Given the description of an element on the screen output the (x, y) to click on. 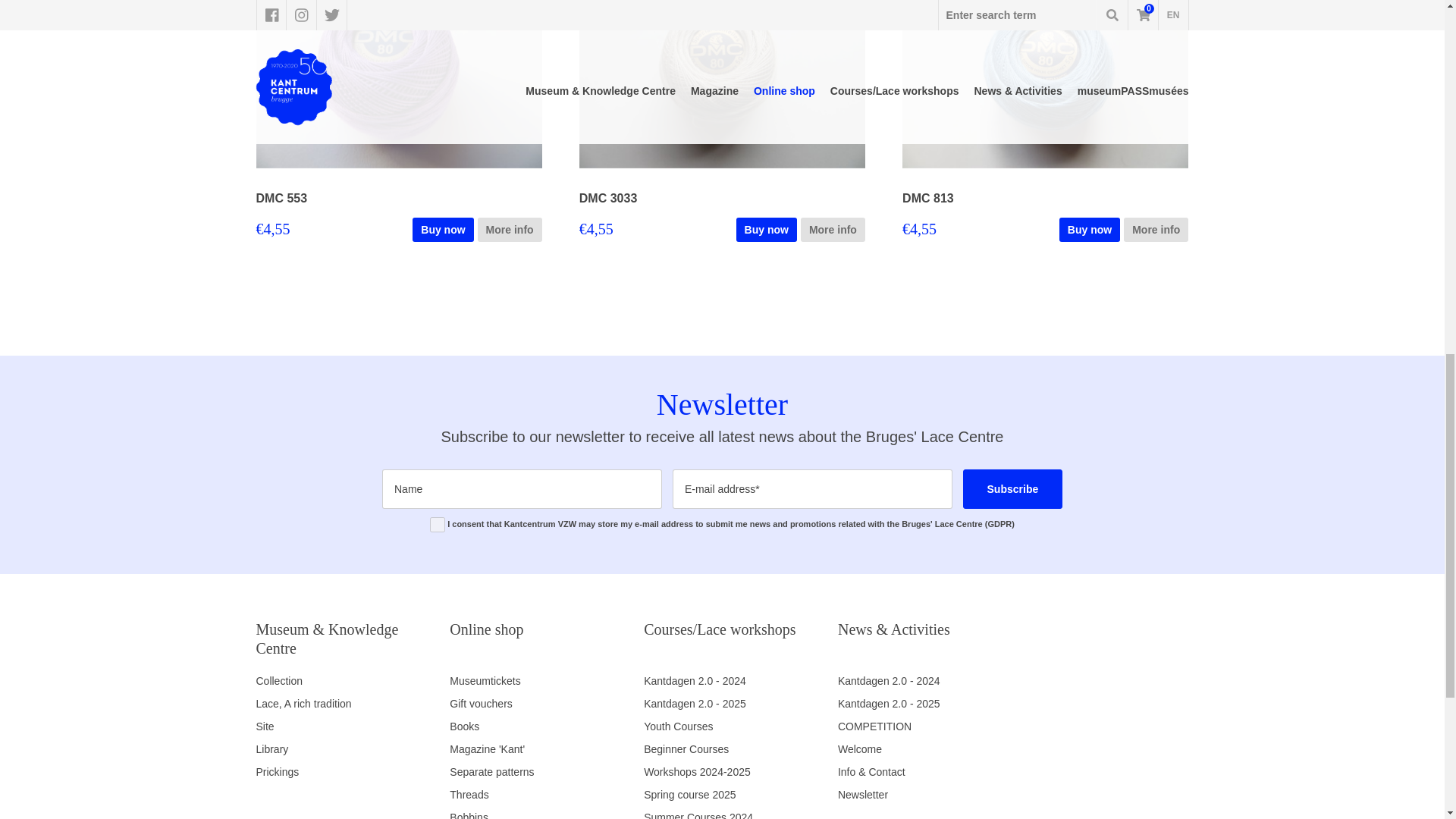
Subscribe (1012, 488)
on (437, 524)
